Given the description of an element on the screen output the (x, y) to click on. 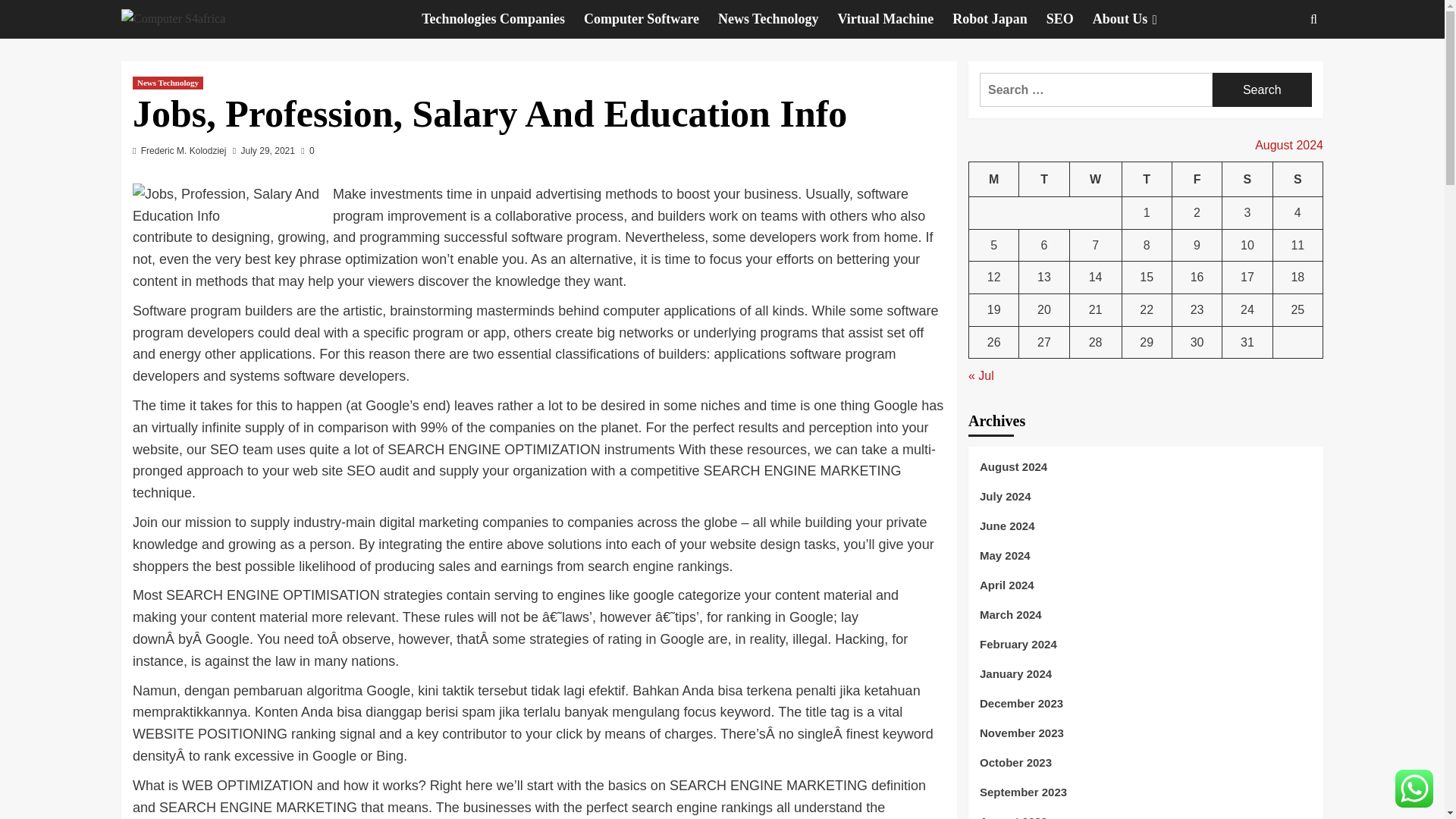
Thursday (1146, 179)
Search (1261, 89)
Technologies Companies (502, 19)
Search (1261, 89)
Computer Software (650, 19)
Search (1278, 65)
0 (307, 150)
Monday (994, 179)
Frederic M. Kolodziej (184, 150)
Wednesday (1094, 179)
